Given the description of an element on the screen output the (x, y) to click on. 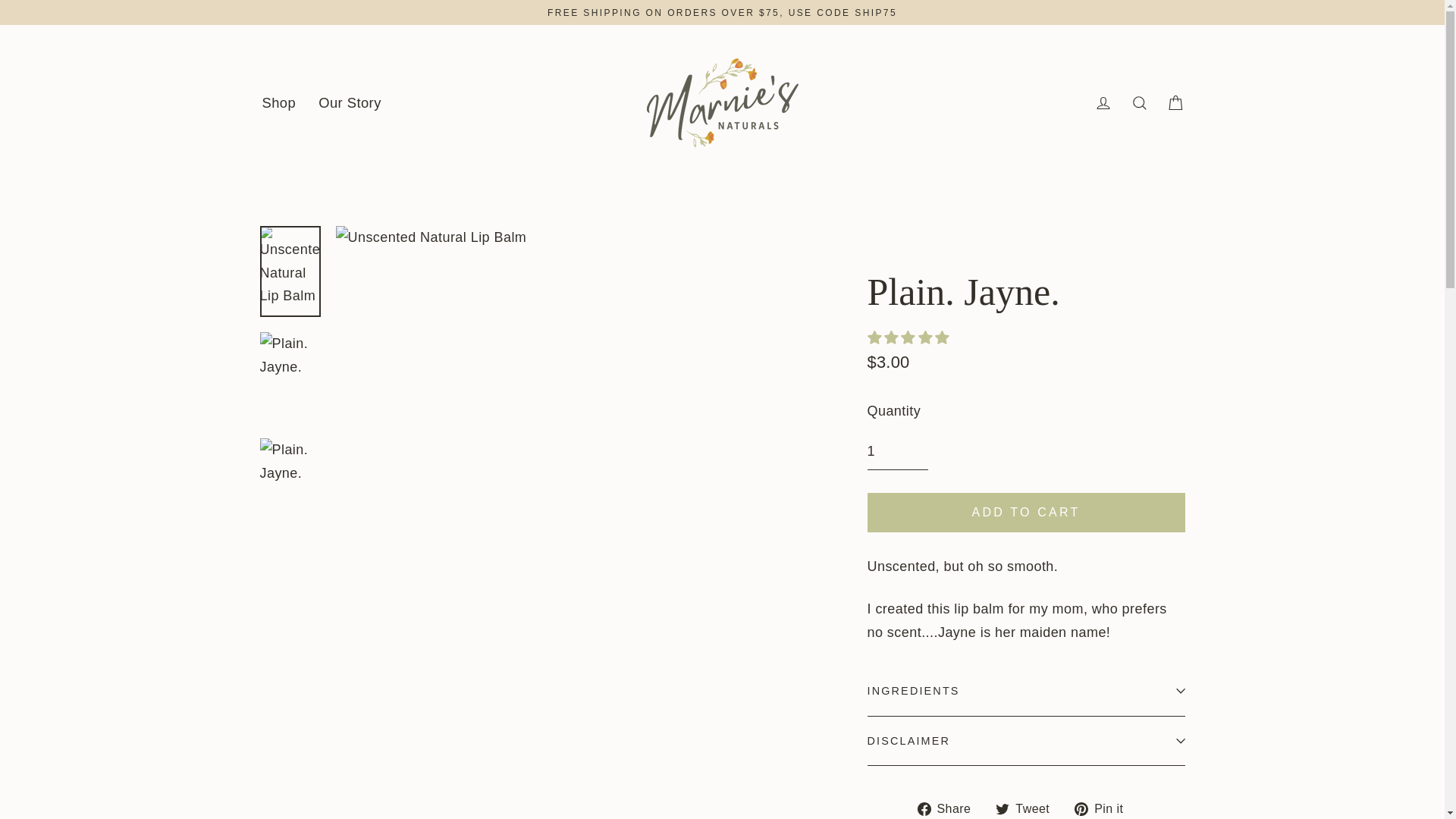
Tweet on Twitter (1028, 808)
1 (897, 452)
Cart (1175, 102)
Search (1139, 102)
Log in (1102, 102)
Our Story (350, 102)
Pin on Pinterest (1104, 808)
Share on Facebook (949, 808)
ADD TO CART (1026, 513)
